Given the description of an element on the screen output the (x, y) to click on. 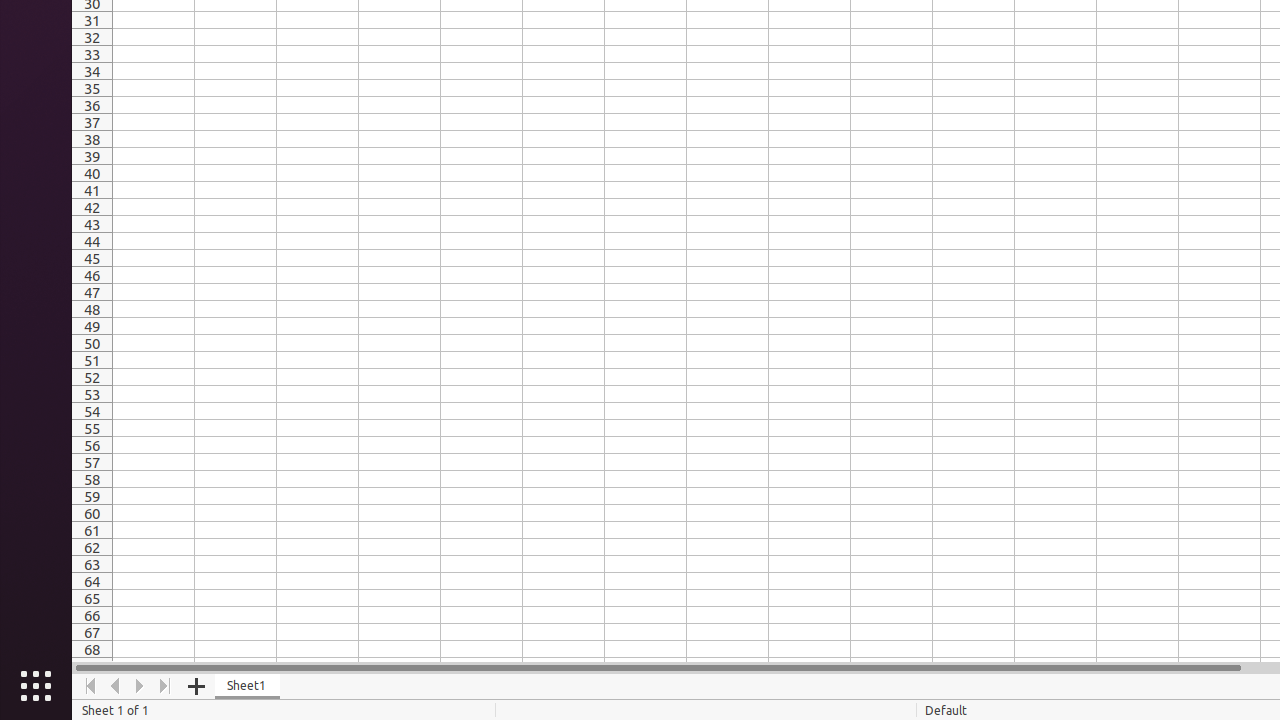
Move Left Element type: push-button (115, 686)
